Given the description of an element on the screen output the (x, y) to click on. 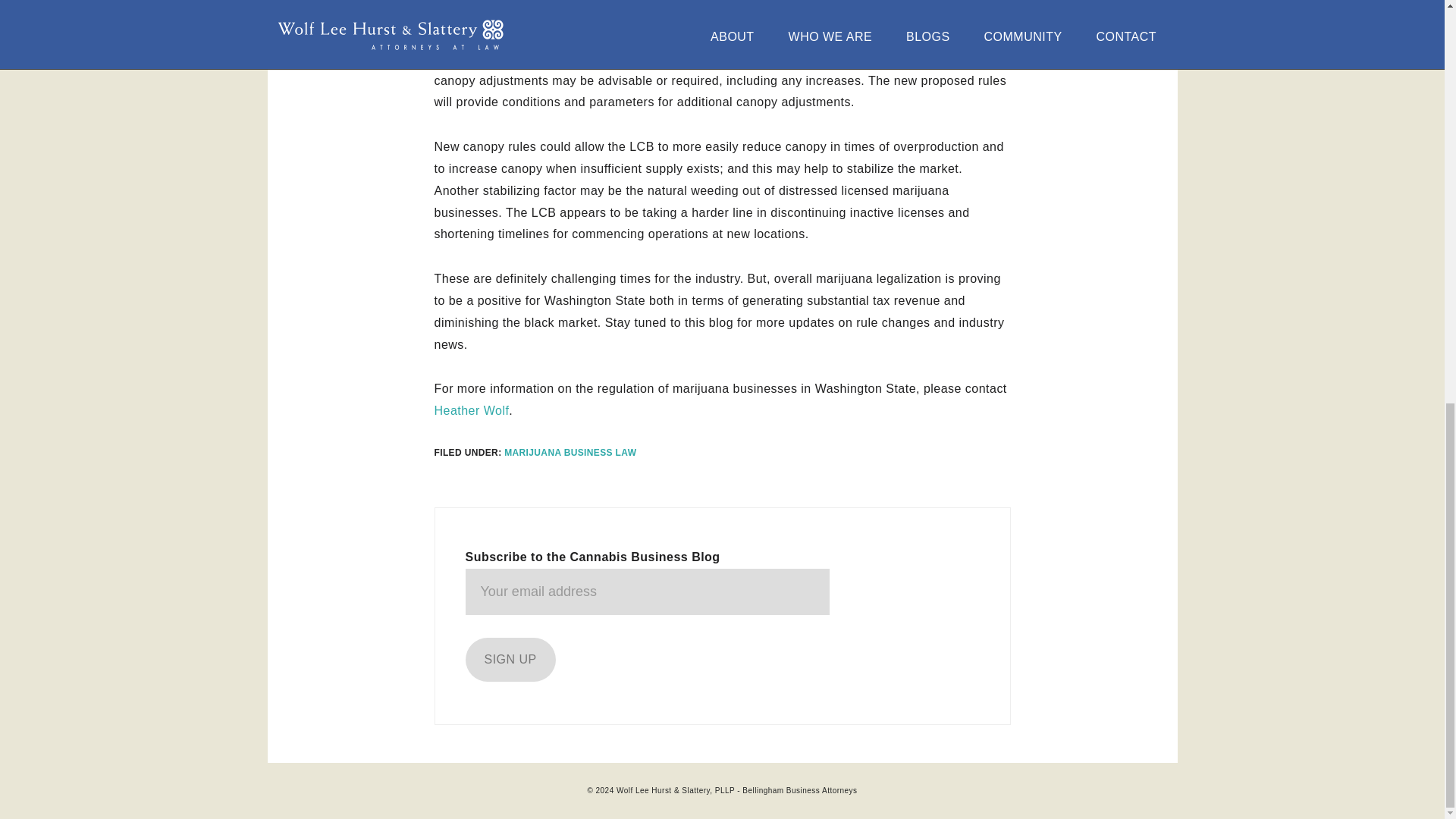
Sign up (510, 659)
Heather Wolf (470, 410)
rules (801, 36)
MARIJUANA BUSINESS LAW (569, 452)
rules (801, 36)
Heather Wolf (470, 410)
Sign up (510, 659)
